Given the description of an element on the screen output the (x, y) to click on. 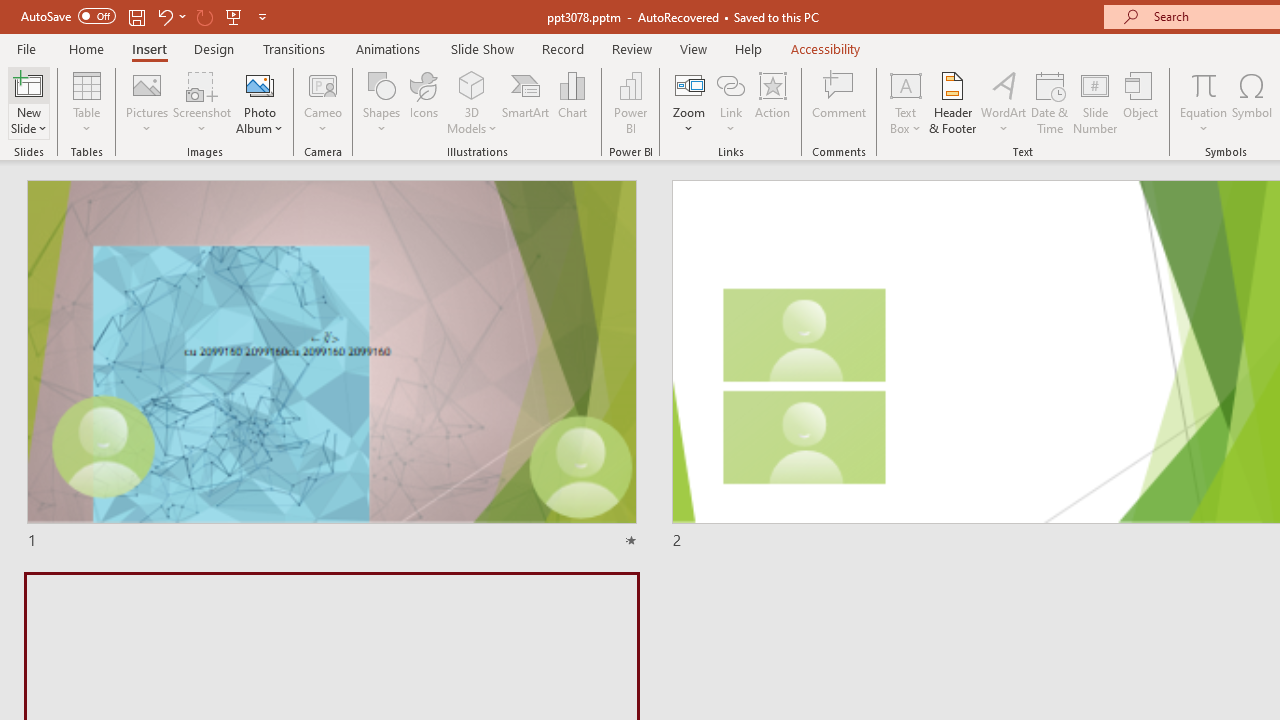
Date & Time... (1050, 102)
Object... (1141, 102)
Icons (424, 102)
Draw Horizontal Text Box (905, 84)
Photo Album... (259, 102)
New Photo Album... (259, 84)
WordArt (1004, 102)
